Given the description of an element on the screen output the (x, y) to click on. 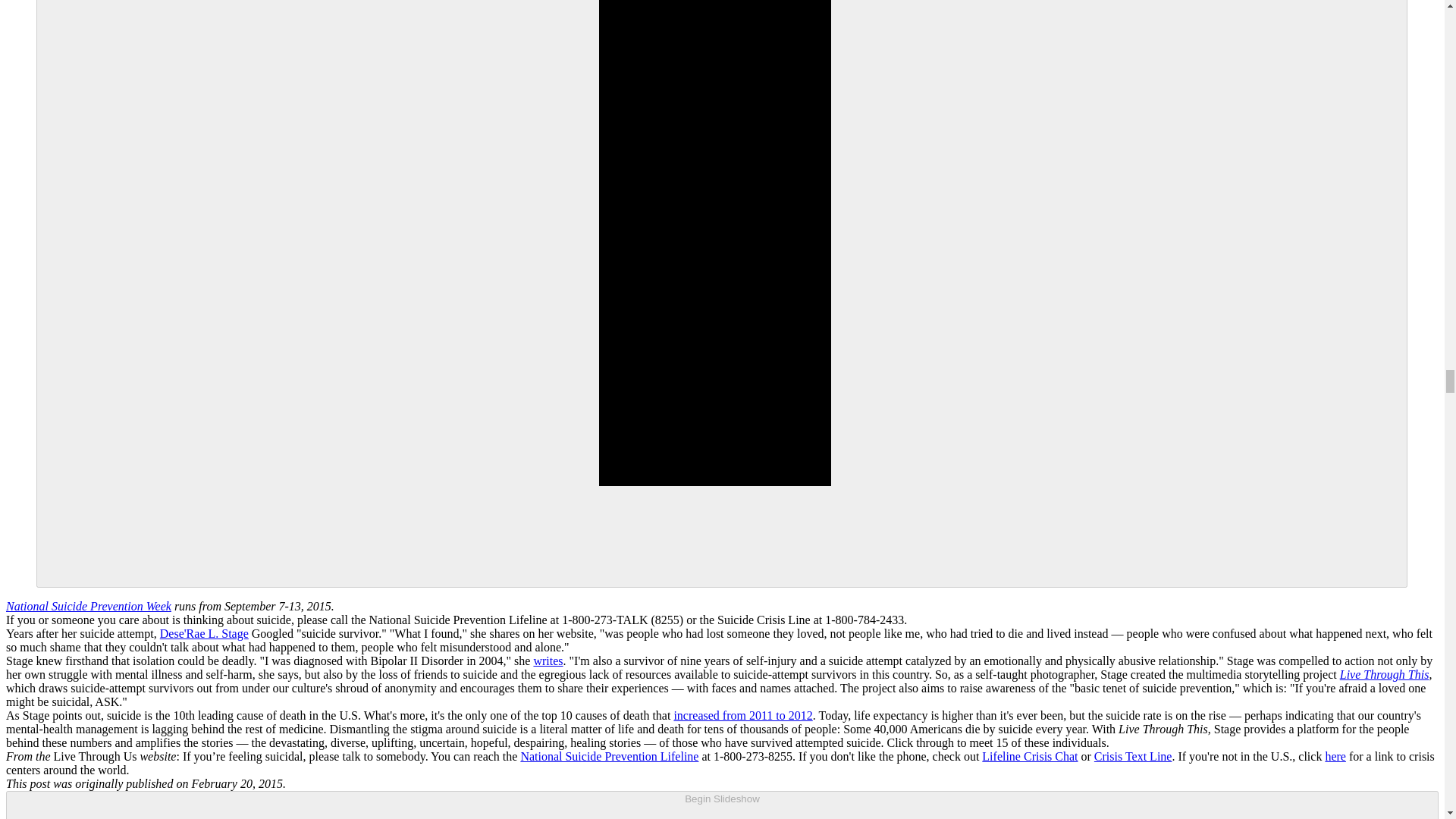
National Suicide Prevention Week (88, 605)
Lifeline Crisis Chat (1029, 756)
Live Through This (1384, 674)
here (1334, 756)
National Suicide Prevention Lifeline (608, 756)
Dese'Rae L. Stage (204, 633)
increased from 2011 to 2012 (742, 715)
Crisis Text Line (1133, 756)
writes (547, 660)
